Given the description of an element on the screen output the (x, y) to click on. 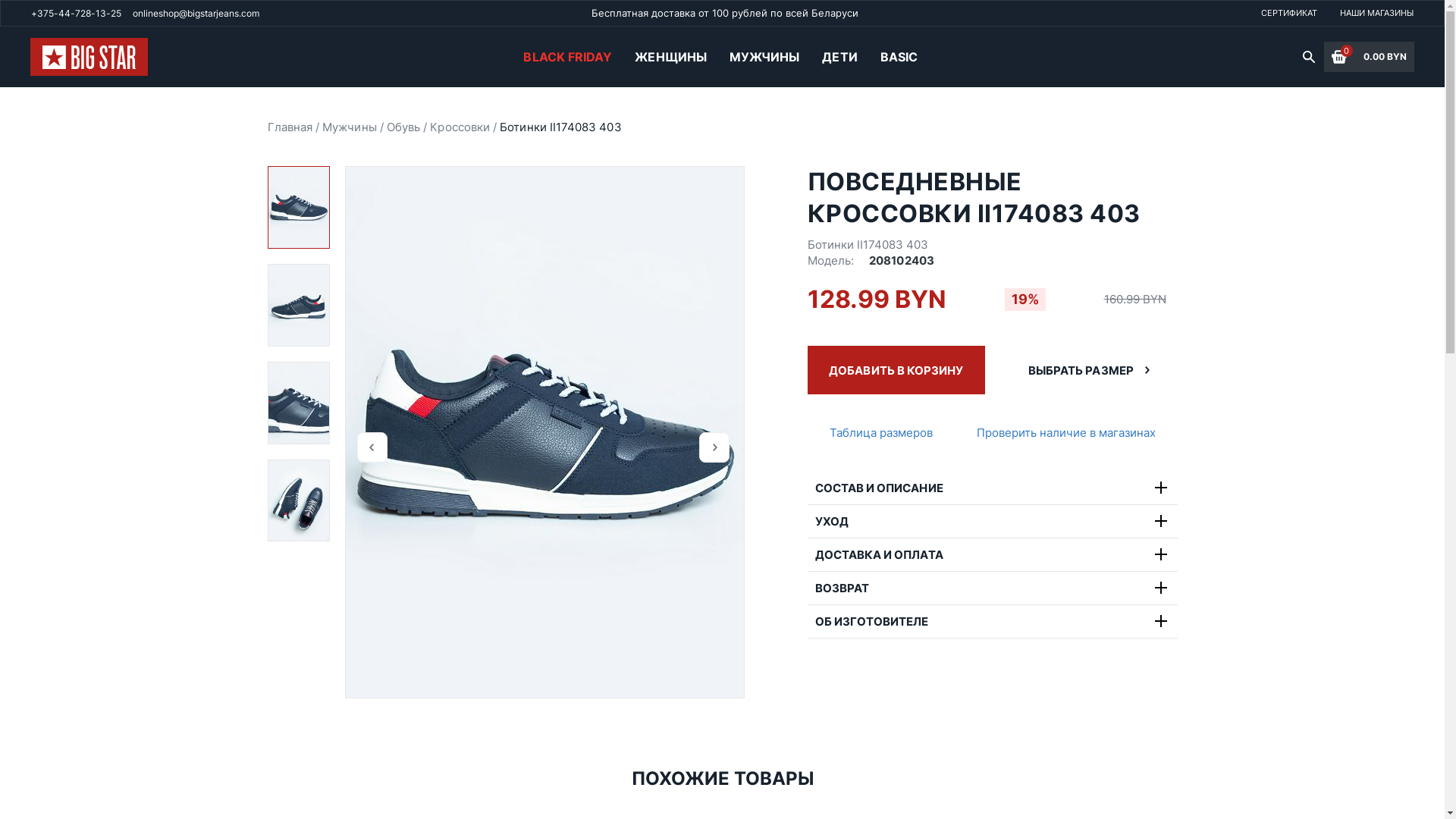
BLACK FRIDAY Element type: text (567, 56)
0
0.00 BYN Element type: text (1369, 56)
onlineshop@bigstarjeans.com Element type: text (195, 12)
+375-44-728-13-25 Element type: text (76, 12)
BASIC Element type: text (898, 56)
